Given the description of an element on the screen output the (x, y) to click on. 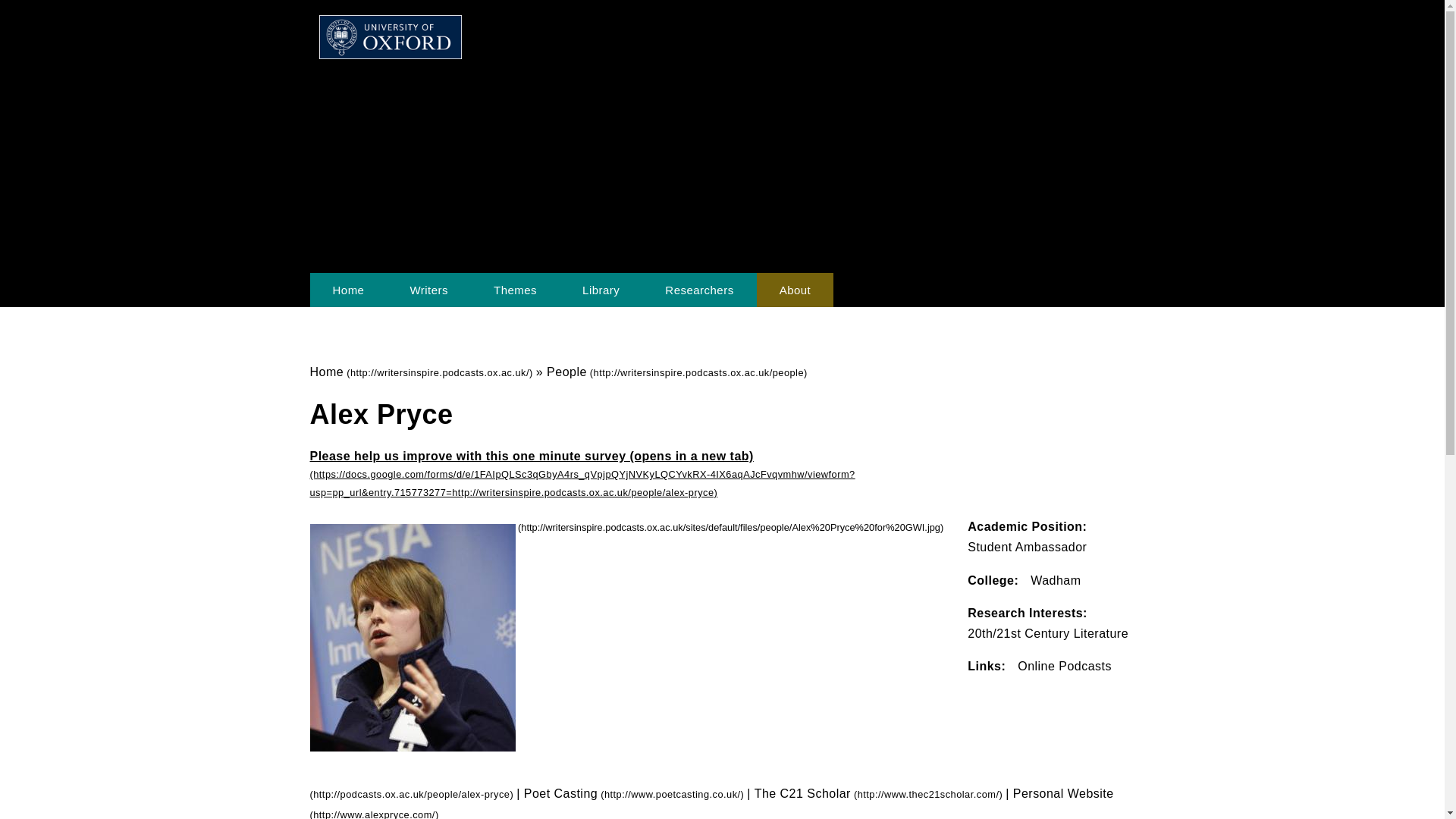
Themes of the Great Writers (514, 289)
Online Podcasts (709, 730)
People (677, 371)
Home (421, 371)
Library of all media files (600, 289)
The Great Writers (428, 289)
Home (347, 289)
Poet Casting (636, 793)
Themes (514, 289)
Personal Website (710, 803)
